Given the description of an element on the screen output the (x, y) to click on. 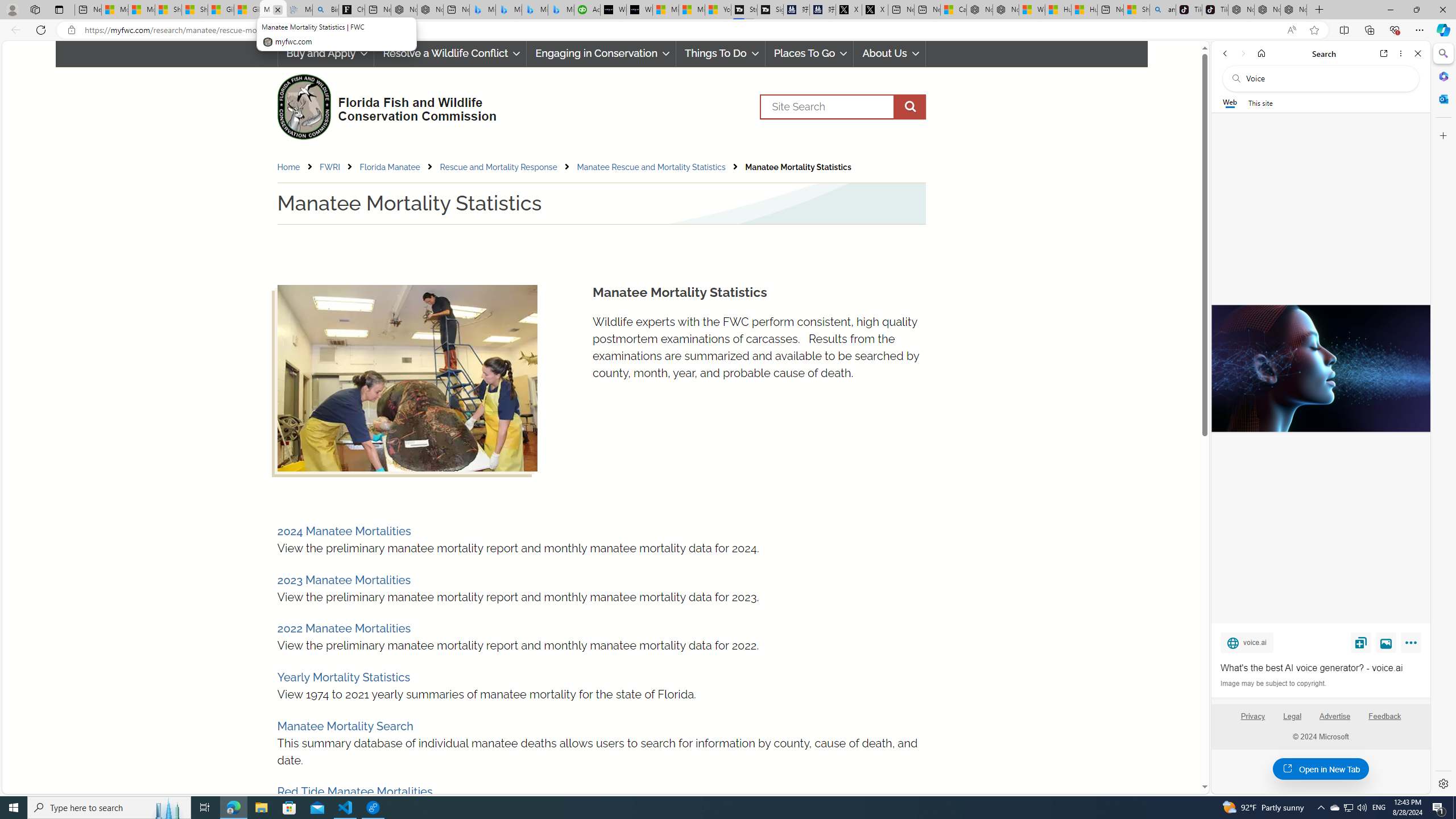
Resolve a Wildlife Conflict (450, 53)
View image (1385, 642)
Workspaces (34, 9)
Home (287, 166)
Microsoft Start (692, 9)
Collections (1369, 29)
voice.ai (1247, 642)
Streaming Coverage | T3 (743, 9)
Advertise (1334, 720)
Close (1417, 53)
Open in New Tab (1321, 768)
Manatee Mortality Search (344, 726)
Manatee Mortality Statistics (798, 167)
